Given the description of an element on the screen output the (x, y) to click on. 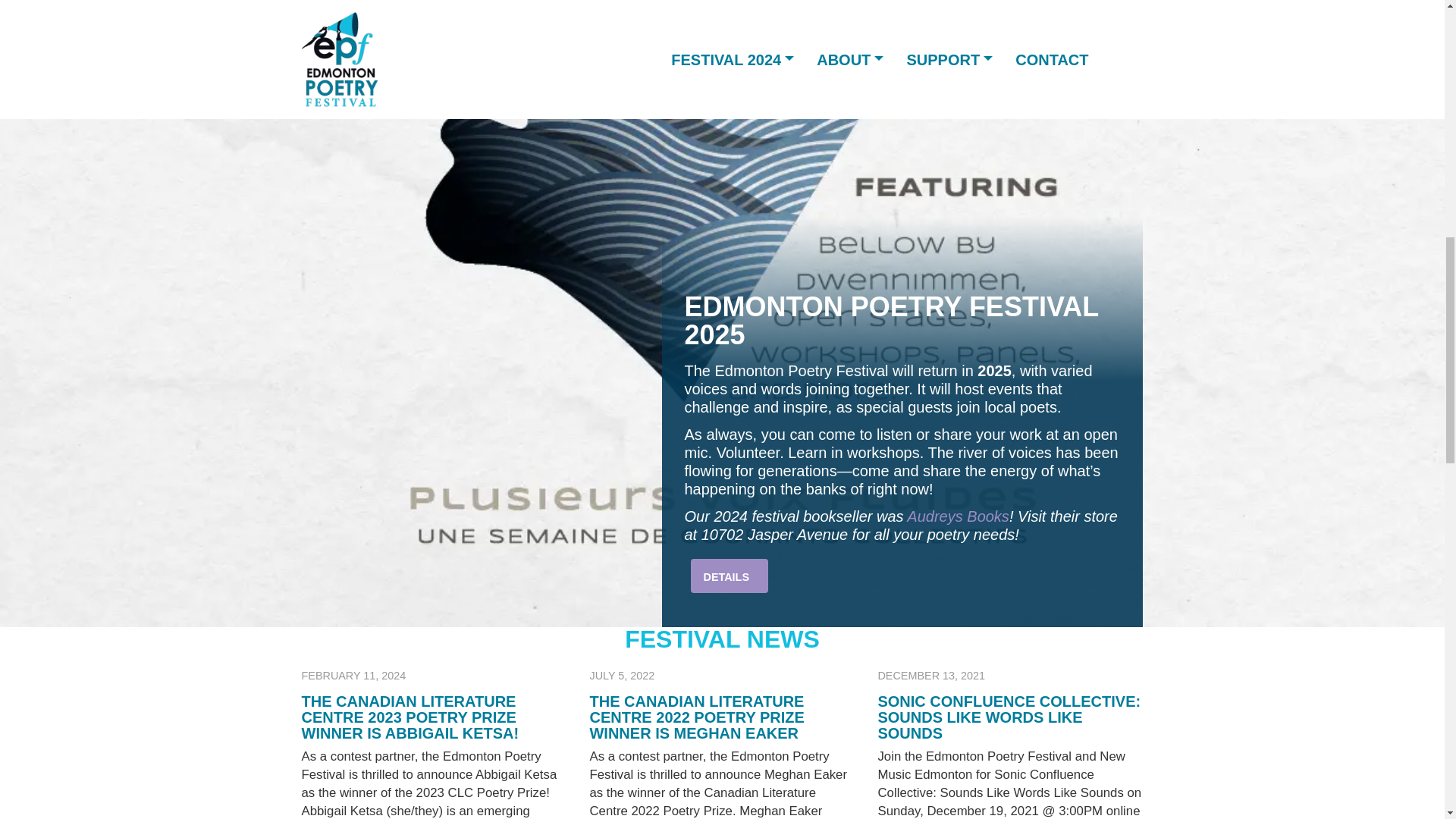
DETAILS   (729, 575)
SONIC CONFLUENCE COLLECTIVE: SOUNDS LIKE WORDS LIKE SOUNDS (1008, 717)
Audreys Books (958, 515)
